Given the description of an element on the screen output the (x, y) to click on. 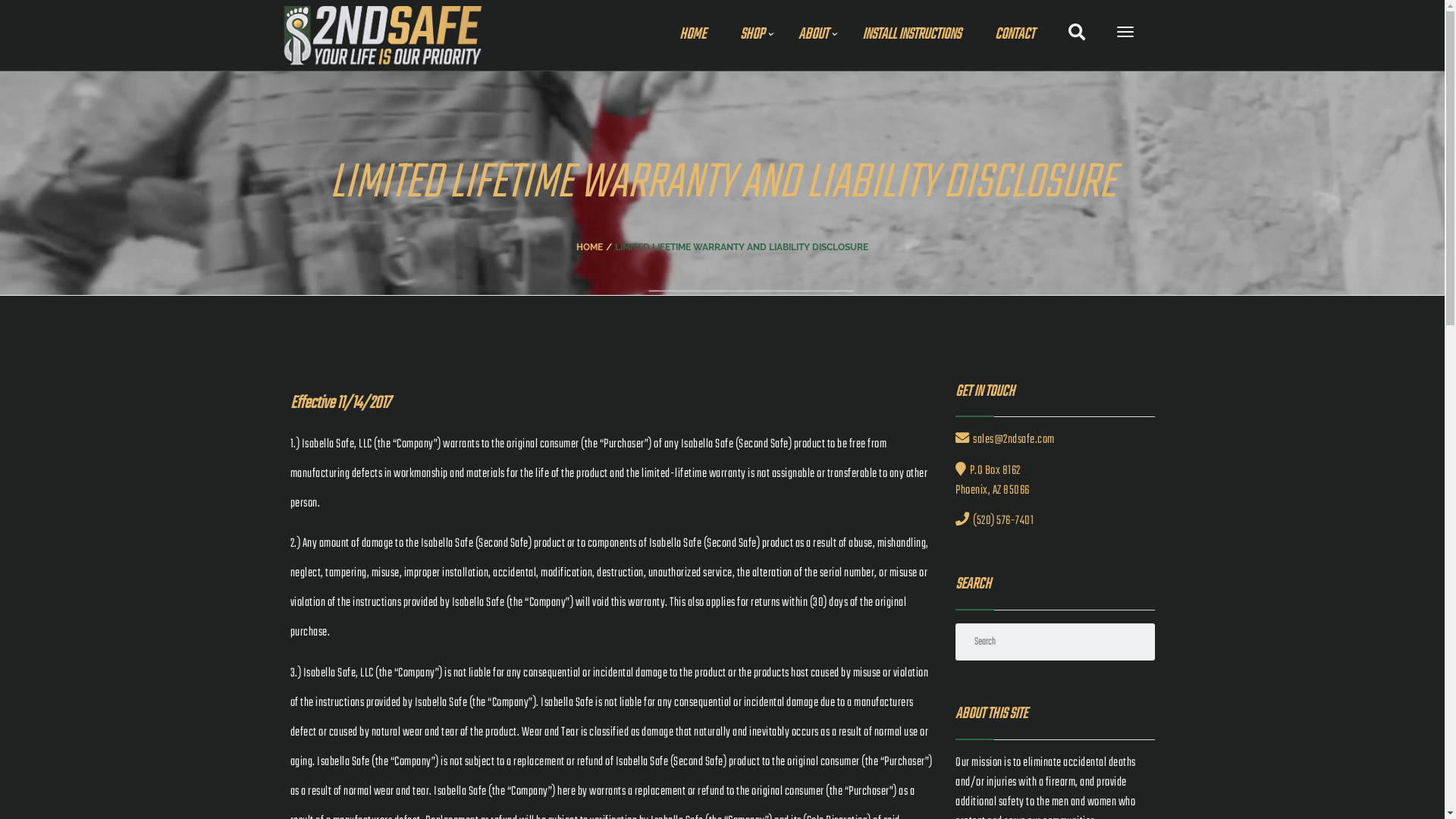
ABOUT Element type: text (812, 34)
  (520) 576-7401 Element type: text (994, 520)
SHOP Element type: text (751, 34)
INSTALL INSTRUCTIONS Element type: text (911, 34)
CONTACT Element type: text (1014, 34)
  sales@2ndsafe.com Element type: text (1004, 439)
HOME Element type: text (589, 246)
  P.O Box 8162
Phoenix, AZ 85066 Element type: text (992, 480)
HOME Element type: text (692, 34)
